Given the description of an element on the screen output the (x, y) to click on. 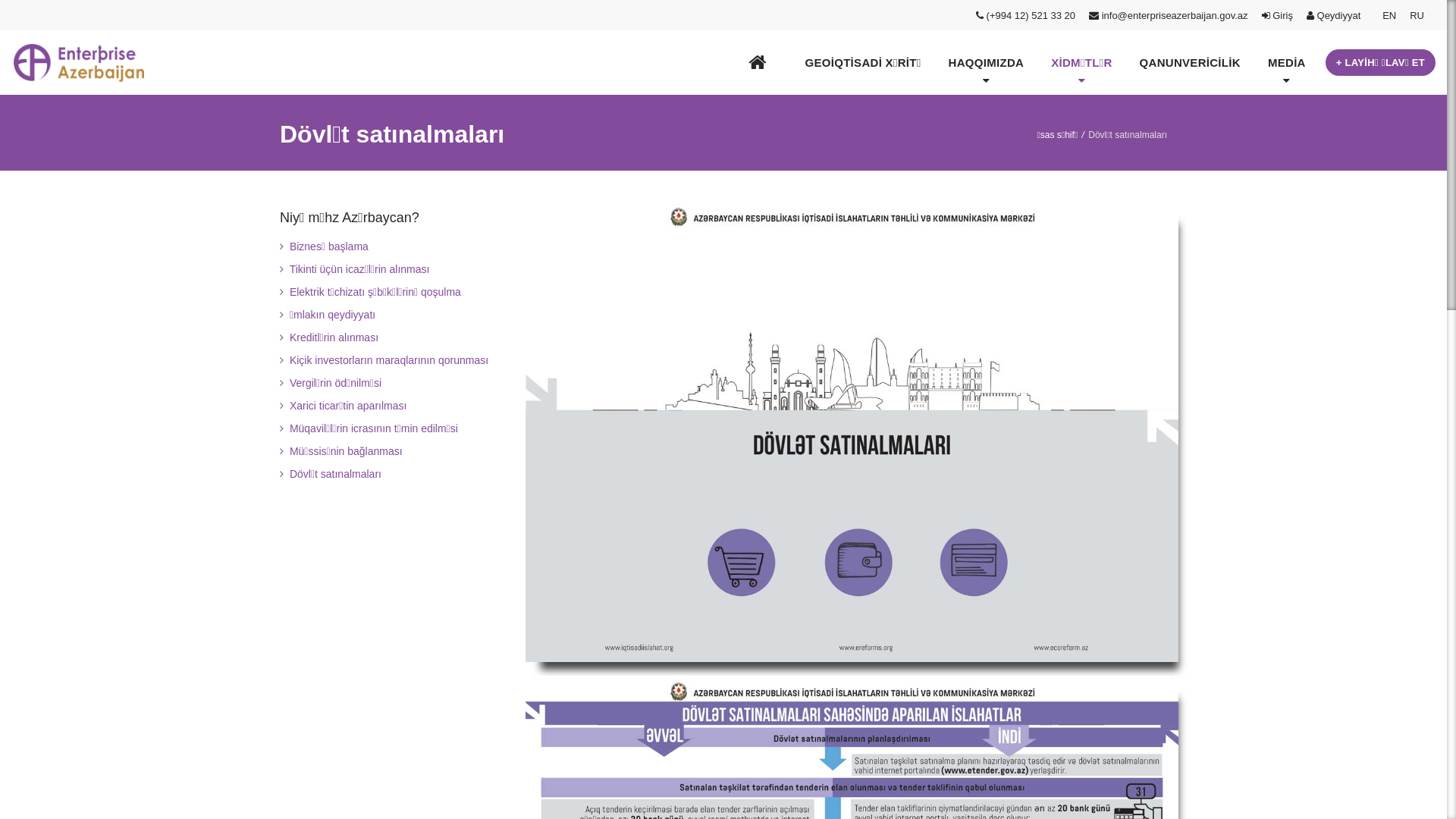
QANUNVERICILIK Element type: text (1190, 62)
EN Element type: text (1389, 15)
MEDIA Element type: text (1286, 68)
HAQQIMIZDA Element type: text (986, 68)
RU Element type: text (1416, 15)
Qeydiyyat    Element type: text (1337, 15)
